Given the description of an element on the screen output the (x, y) to click on. 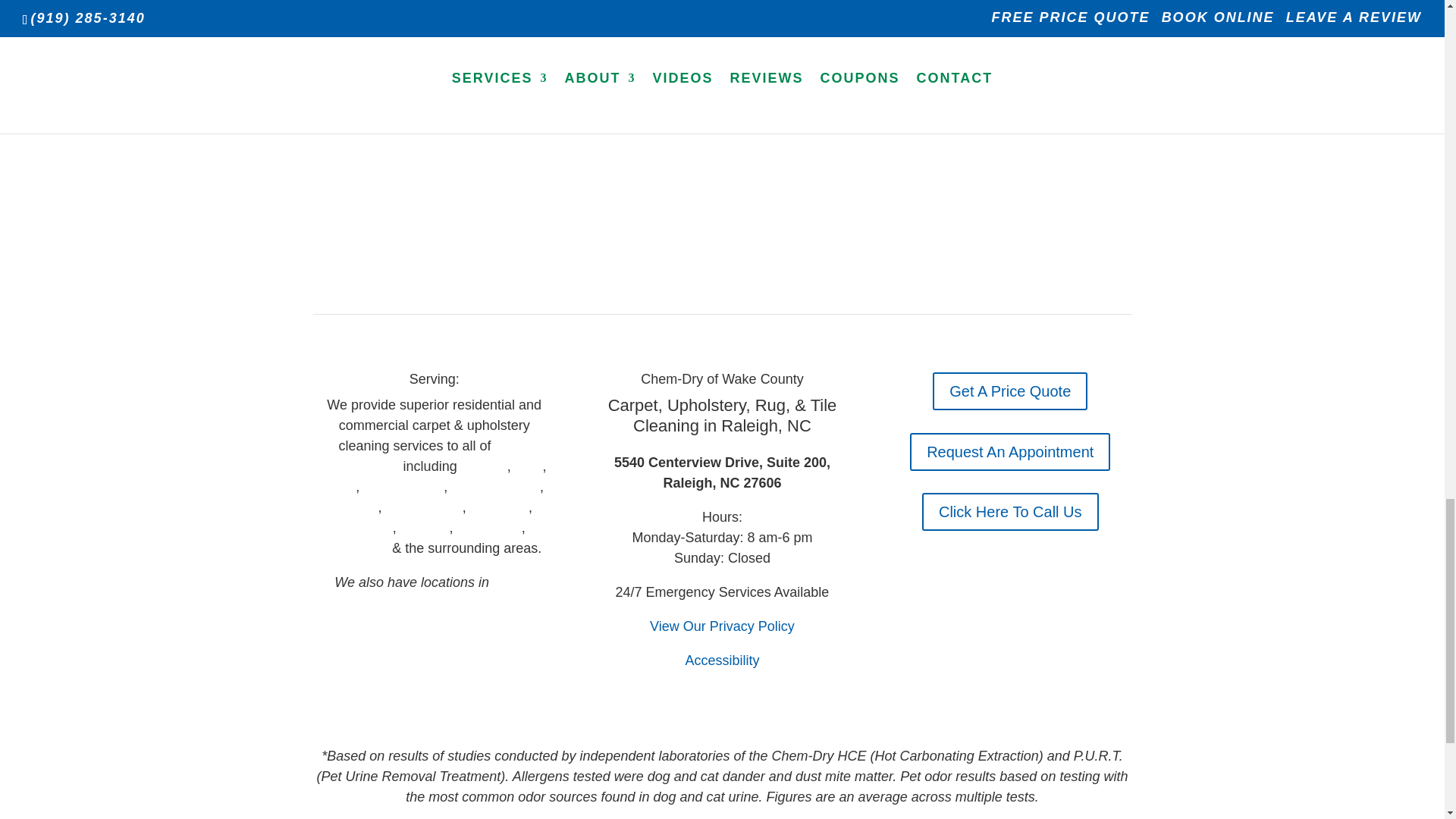
Holly Springs (403, 486)
Wake Forest (423, 507)
Fuquay-Varina (495, 486)
Wake County, NC, (425, 456)
Apex (339, 486)
Follow on Google (403, 647)
Follow on Facebook (434, 647)
Rolesville (499, 507)
Follow on Pinterest (464, 647)
Cary (529, 466)
Raleigh (483, 466)
Garner (356, 507)
